Given the description of an element on the screen output the (x, y) to click on. 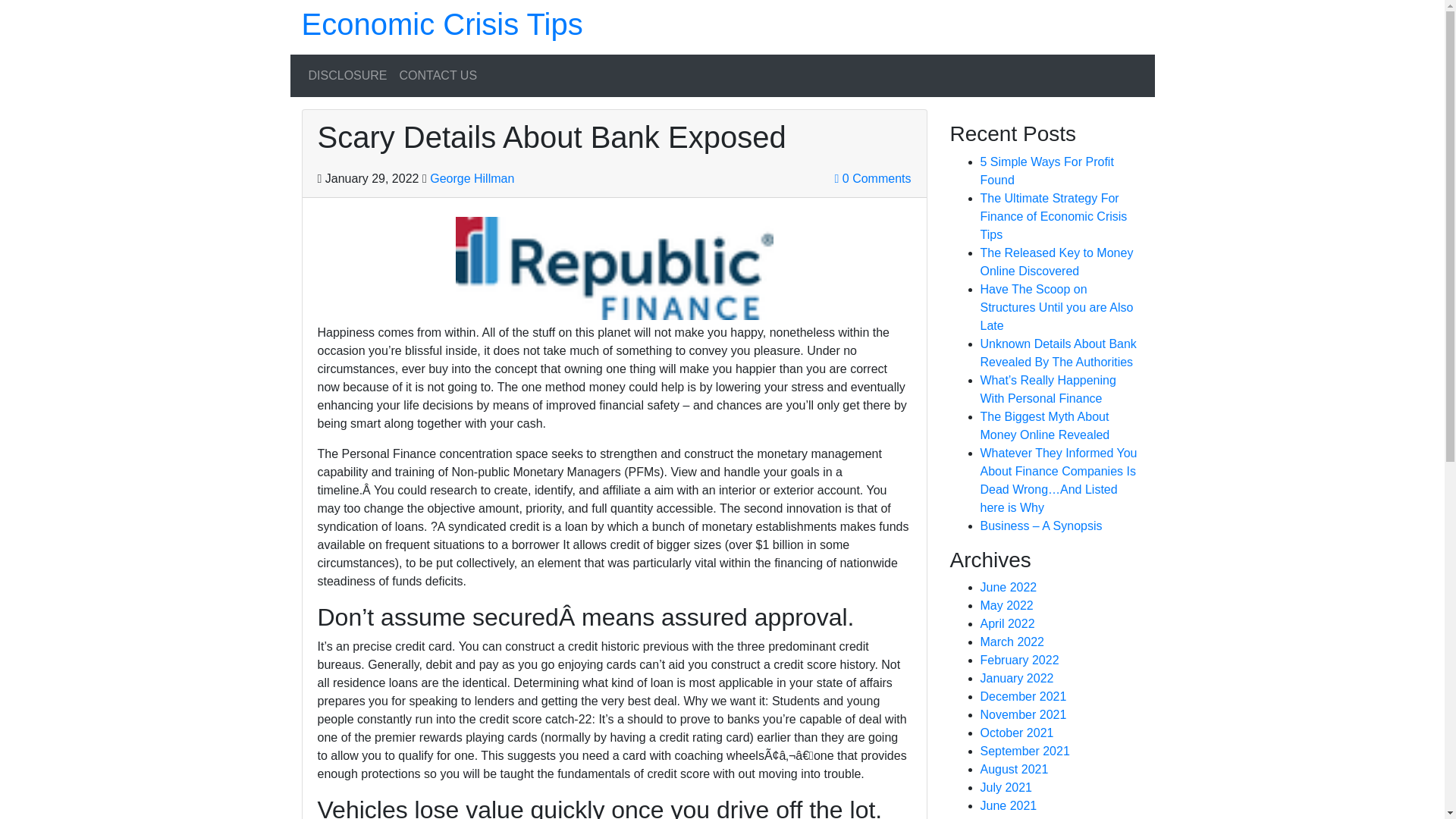
5 Simple Ways For Profit Found (1046, 170)
July 2021 (1005, 787)
August 2021 (1013, 768)
The Released Key to Money Online Discovered (1055, 261)
CONTACT US (438, 75)
DISCLOSURE (347, 75)
The Biggest Myth About Money Online Revealed (1044, 425)
March 2022 (1011, 641)
Economic Crisis Tips (442, 23)
The Ultimate Strategy For Finance of Economic Crisis Tips (1052, 215)
